Given the description of an element on the screen output the (x, y) to click on. 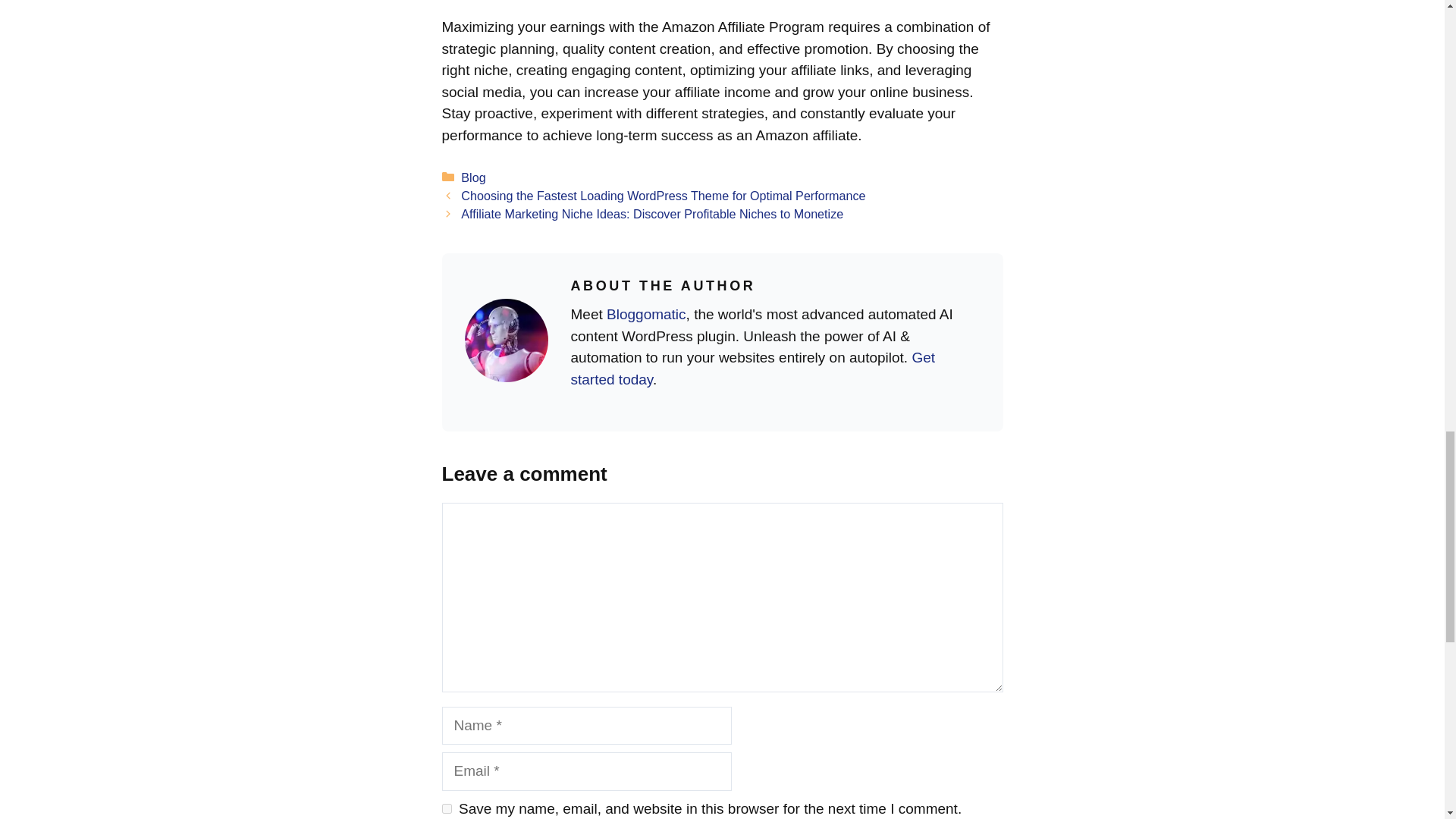
Bloggomatic (646, 314)
Blog (472, 177)
yes (446, 808)
Get started today (752, 368)
